Given the description of an element on the screen output the (x, y) to click on. 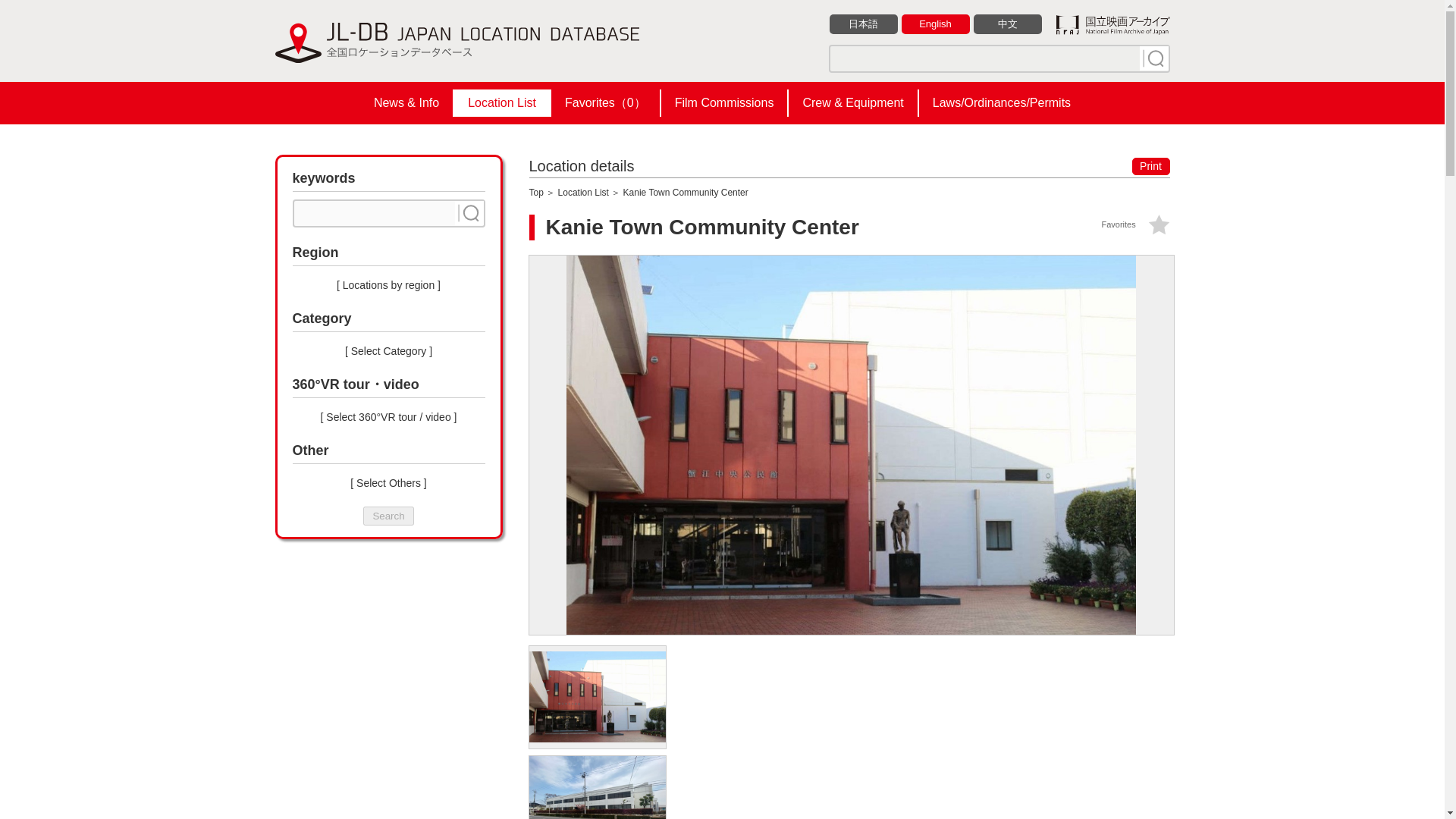
Film Commissions (724, 103)
Search (387, 515)
English (935, 24)
Print (1150, 166)
1 (1152, 57)
Top (536, 192)
Location List (582, 192)
Location List (502, 103)
